Given the description of an element on the screen output the (x, y) to click on. 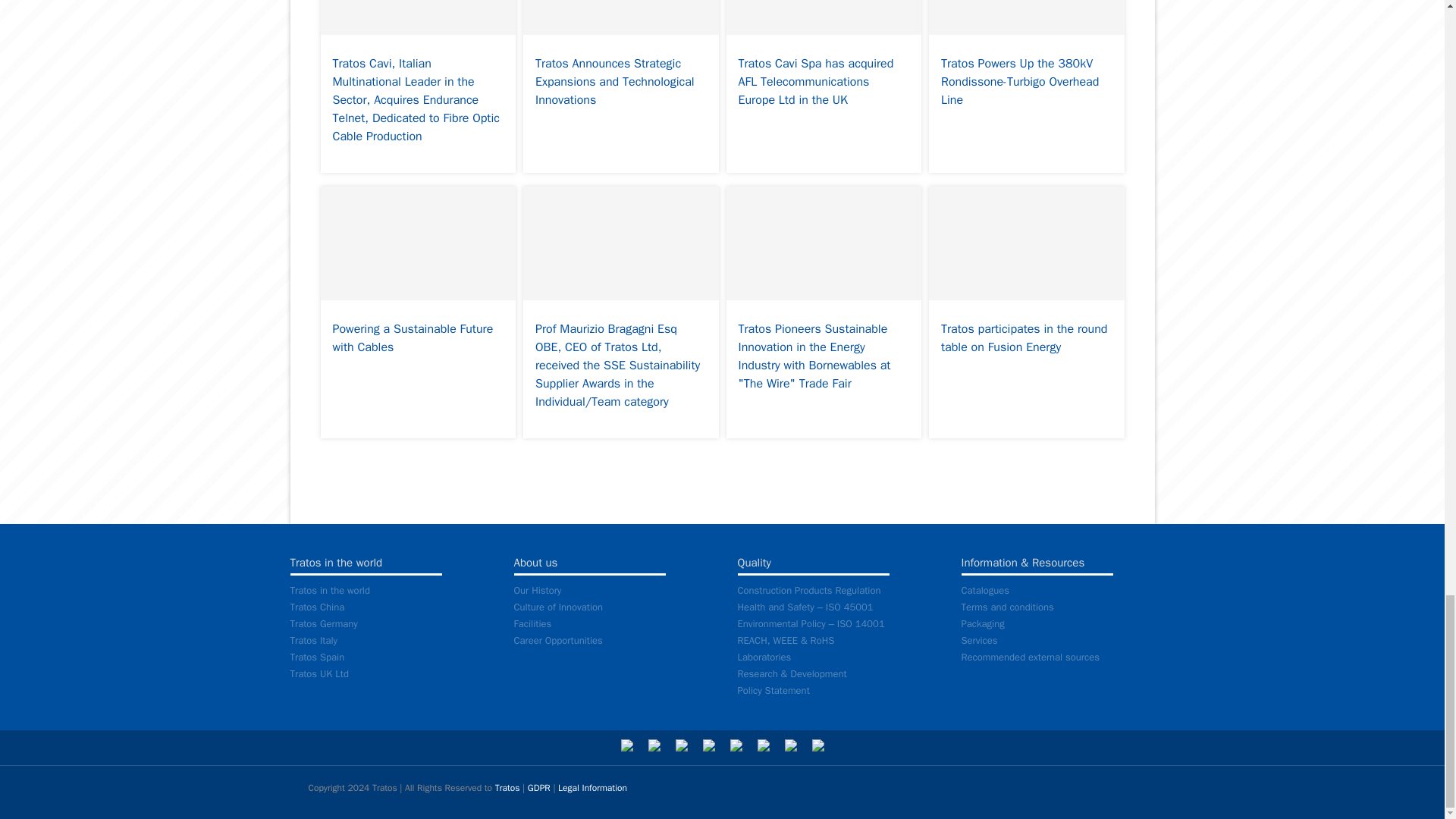
Tratos Powers Up the 380kV Rondissone-Turbigo Overhead Line (1026, 86)
